Given the description of an element on the screen output the (x, y) to click on. 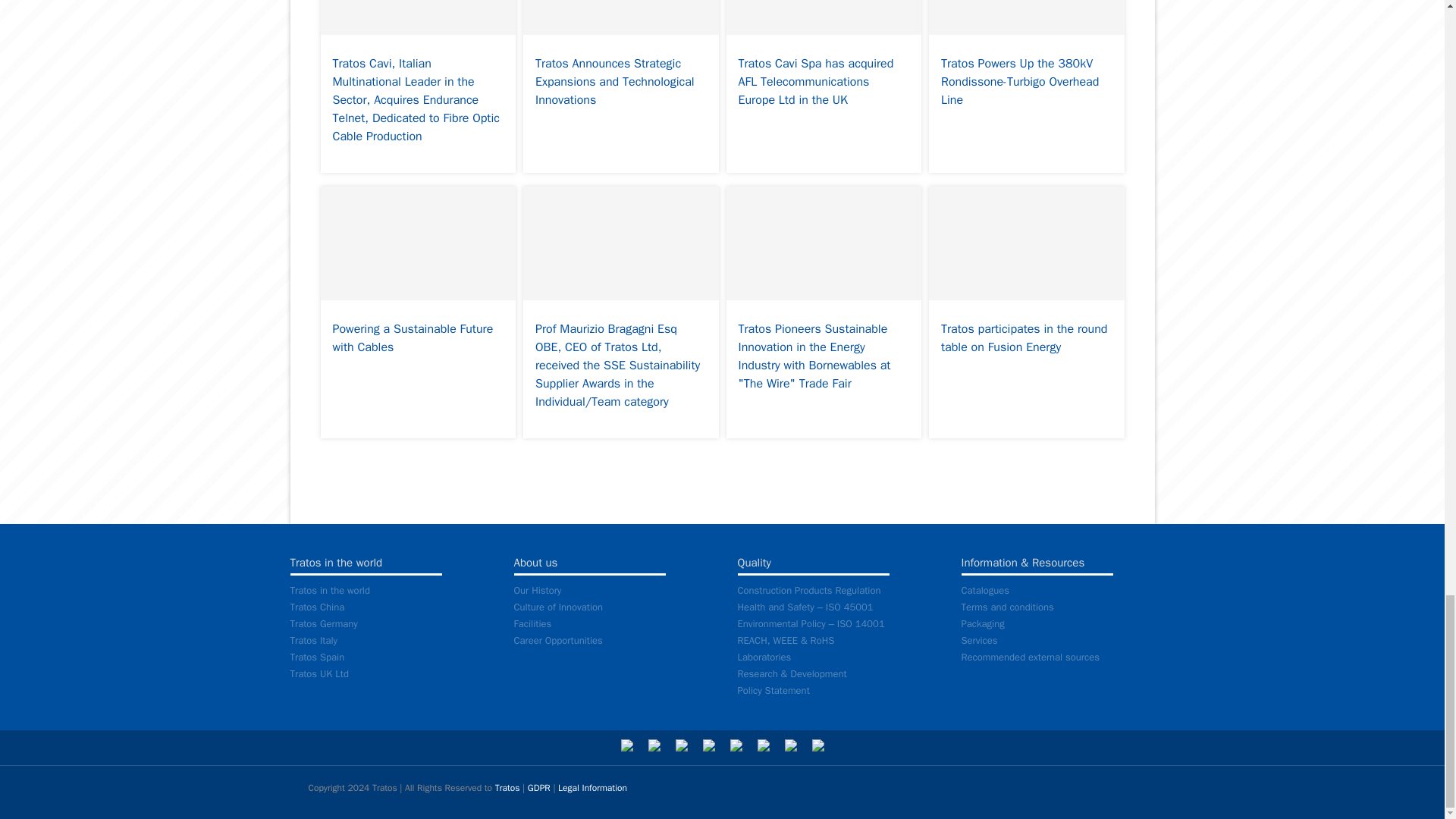
Tratos Powers Up the 380kV Rondissone-Turbigo Overhead Line (1026, 86)
